Given the description of an element on the screen output the (x, y) to click on. 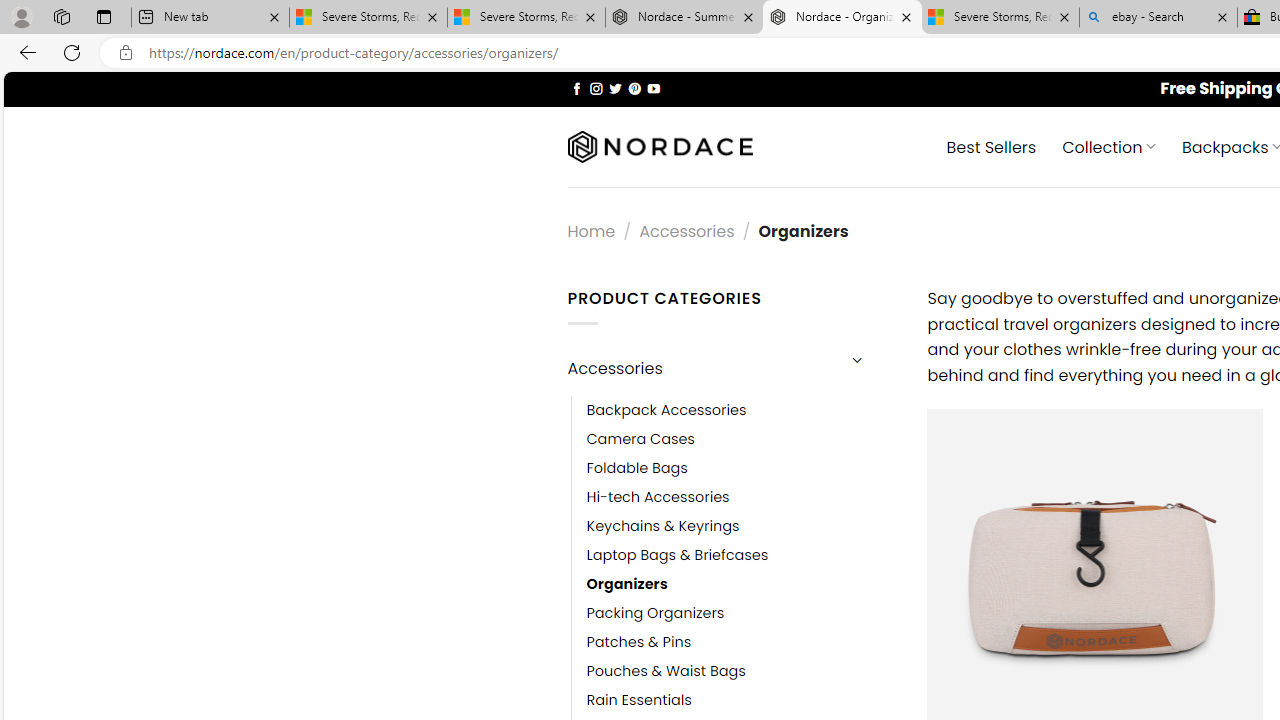
Follow on Twitter (615, 88)
Refresh (72, 52)
Nordace - Organizers (842, 17)
Keychains & Keyrings (742, 526)
Backpack Accessories (742, 409)
Organizers (627, 584)
 Best Sellers (990, 146)
Workspaces (61, 16)
New tab (210, 17)
Follow on YouTube (653, 88)
Accessories (700, 368)
Follow on Pinterest (634, 88)
Pouches & Waist Bags (666, 671)
Nordace (659, 147)
